Given the description of an element on the screen output the (x, y) to click on. 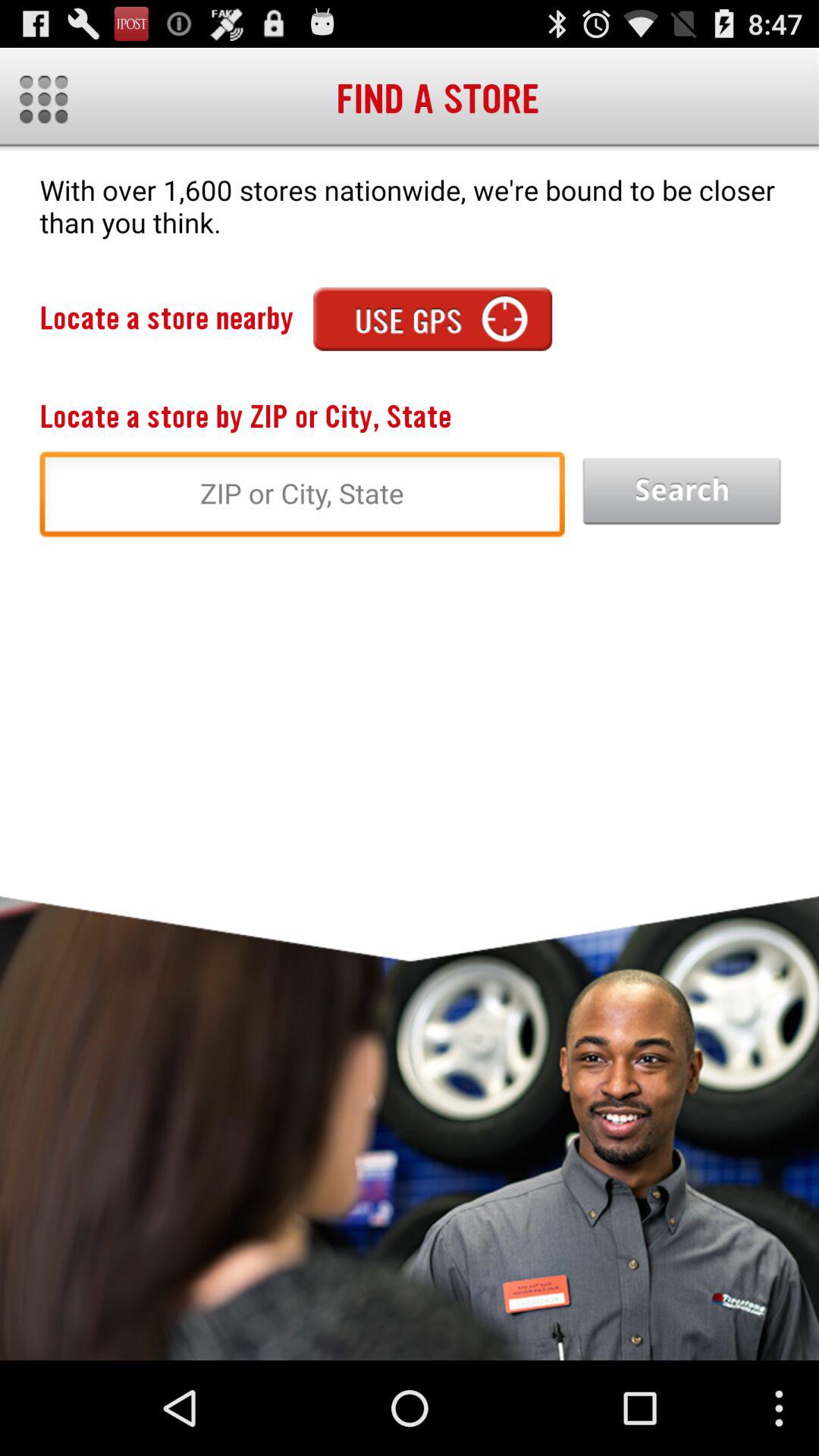
tap the app next to the find a store item (43, 99)
